Given the description of an element on the screen output the (x, y) to click on. 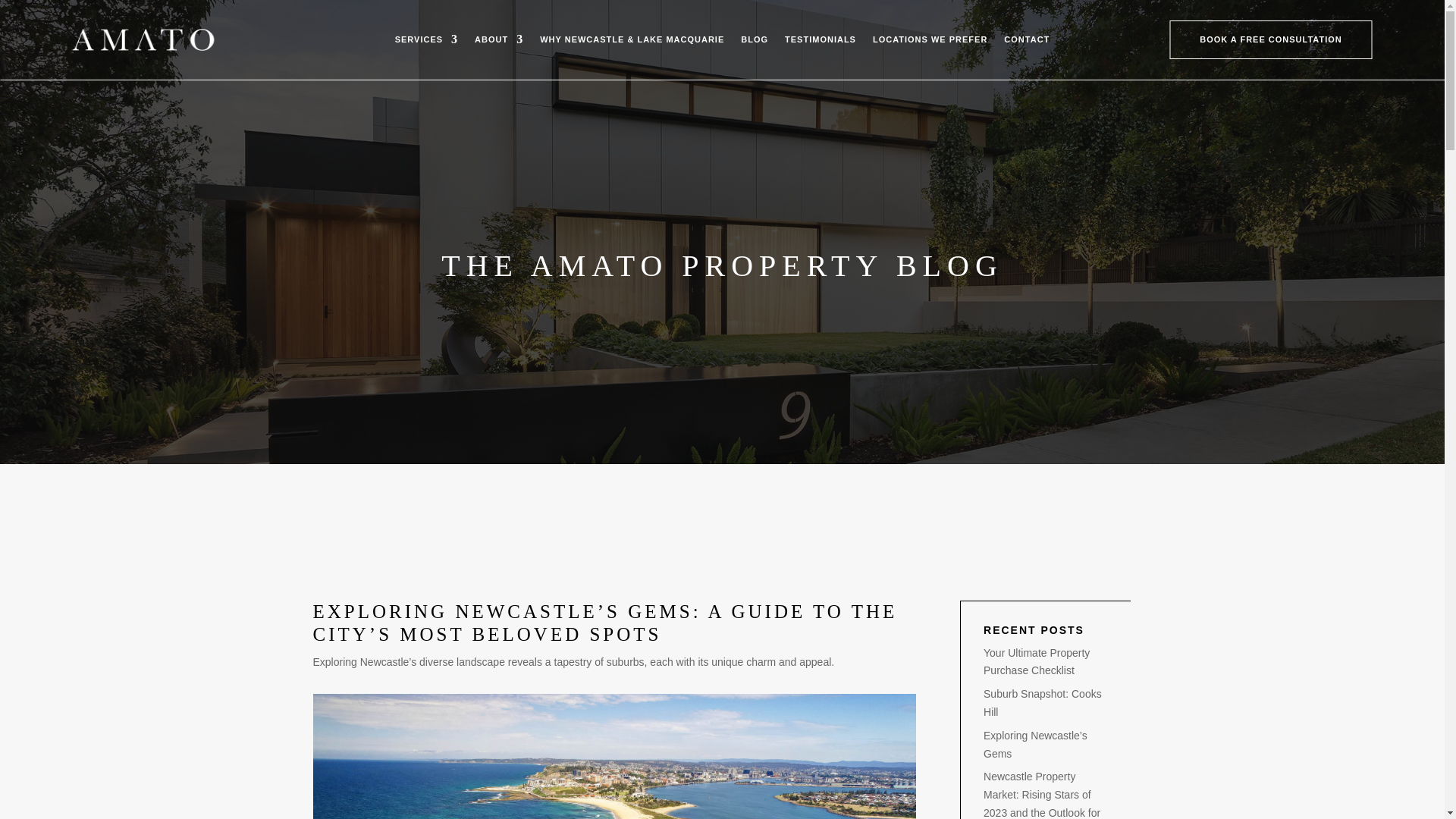
Suburb Snapshot: Cooks Hill (1043, 702)
Your Ultimate Property Purchase Checklist (1036, 662)
CONTACT (1026, 42)
BOOK A FREE CONSULTATION (1270, 39)
Amato Property (142, 39)
BLOG (754, 42)
Newcastle Lighthouse (614, 756)
LOCATIONS WE PREFER (929, 42)
SERVICES (426, 42)
ABOUT (498, 42)
